Given the description of an element on the screen output the (x, y) to click on. 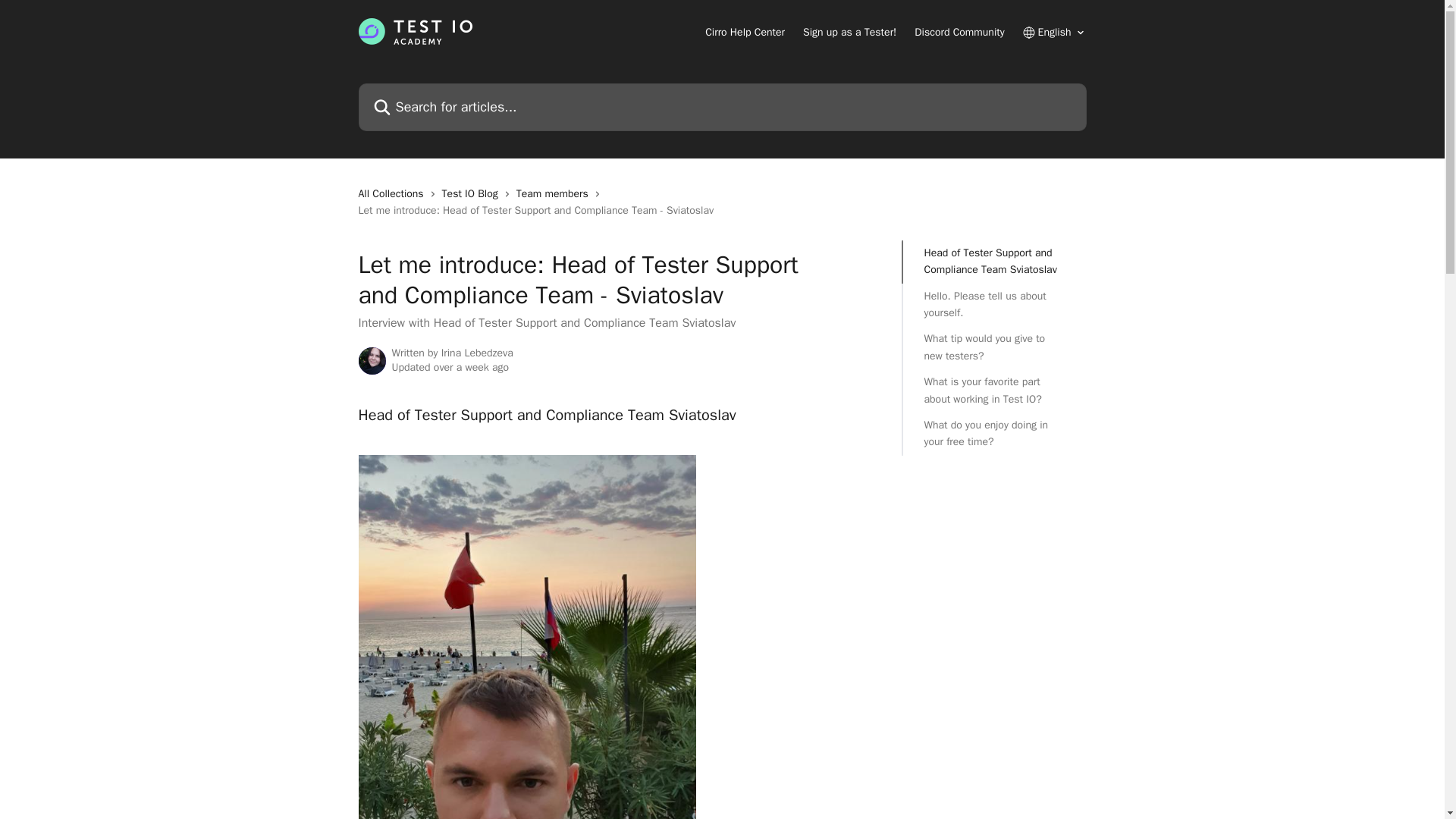
Sign up as a Tester! (849, 32)
What is your favorite part about working in Test IO? (993, 390)
Hello. Please tell us about yourself. (993, 305)
All Collections (393, 193)
What do you enjoy doing in your free time? (993, 433)
Discord Community (959, 32)
Test IO Blog (472, 193)
Team members (555, 193)
Cirro Help Center (744, 32)
What tip would you give to new testers? (993, 347)
Head of Tester Support and Compliance Team Sviatoslav (993, 261)
